Given the description of an element on the screen output the (x, y) to click on. 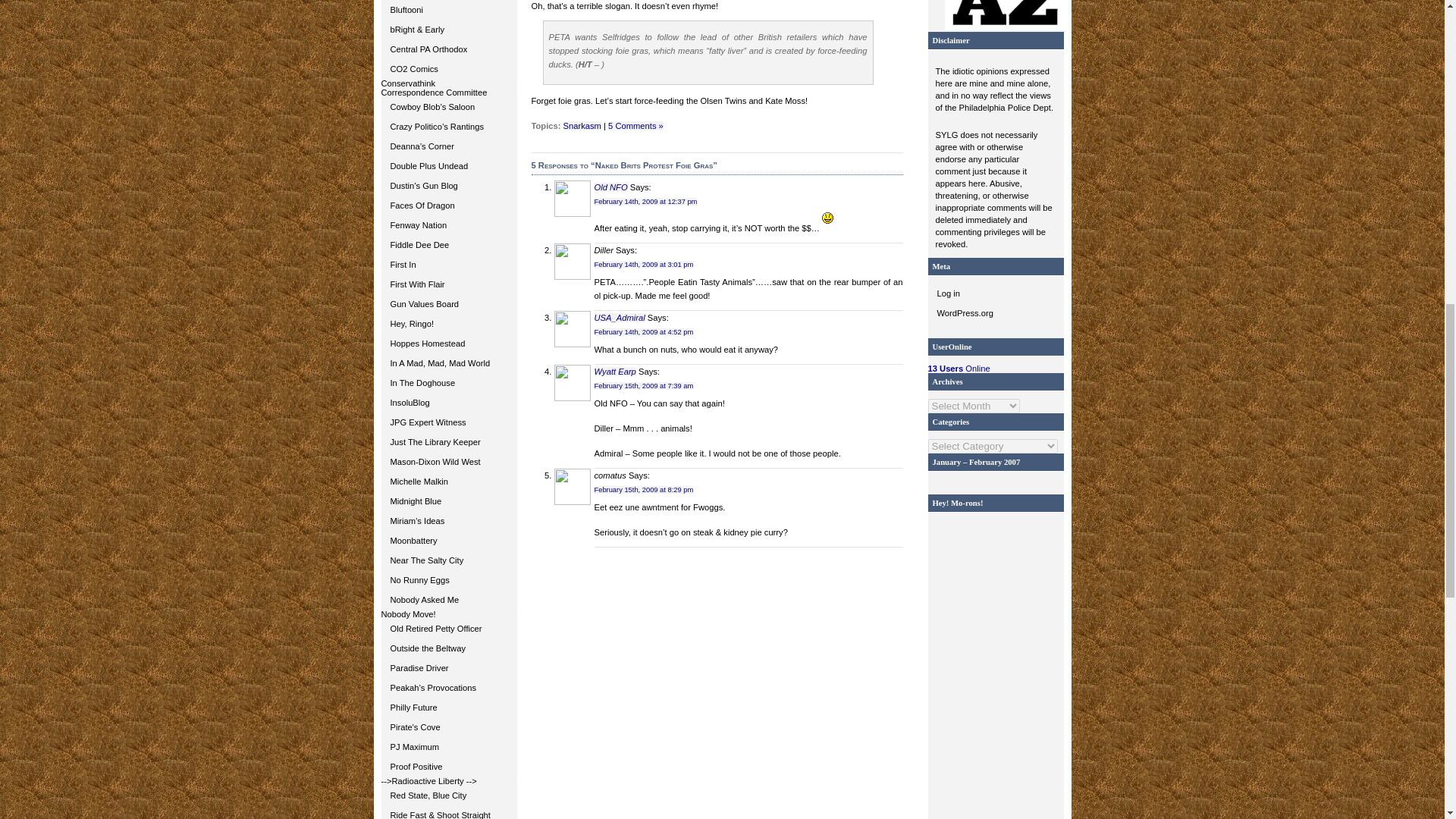
Bluftooni (448, 9)
First In (448, 264)
Fiddle Dee Dee (448, 244)
CO2 Comics (448, 68)
Central PA Orthodox (448, 48)
Double Plus Undead (448, 166)
Fenway Nation (448, 225)
Faces Of Dragon (448, 205)
